Given the description of an element on the screen output the (x, y) to click on. 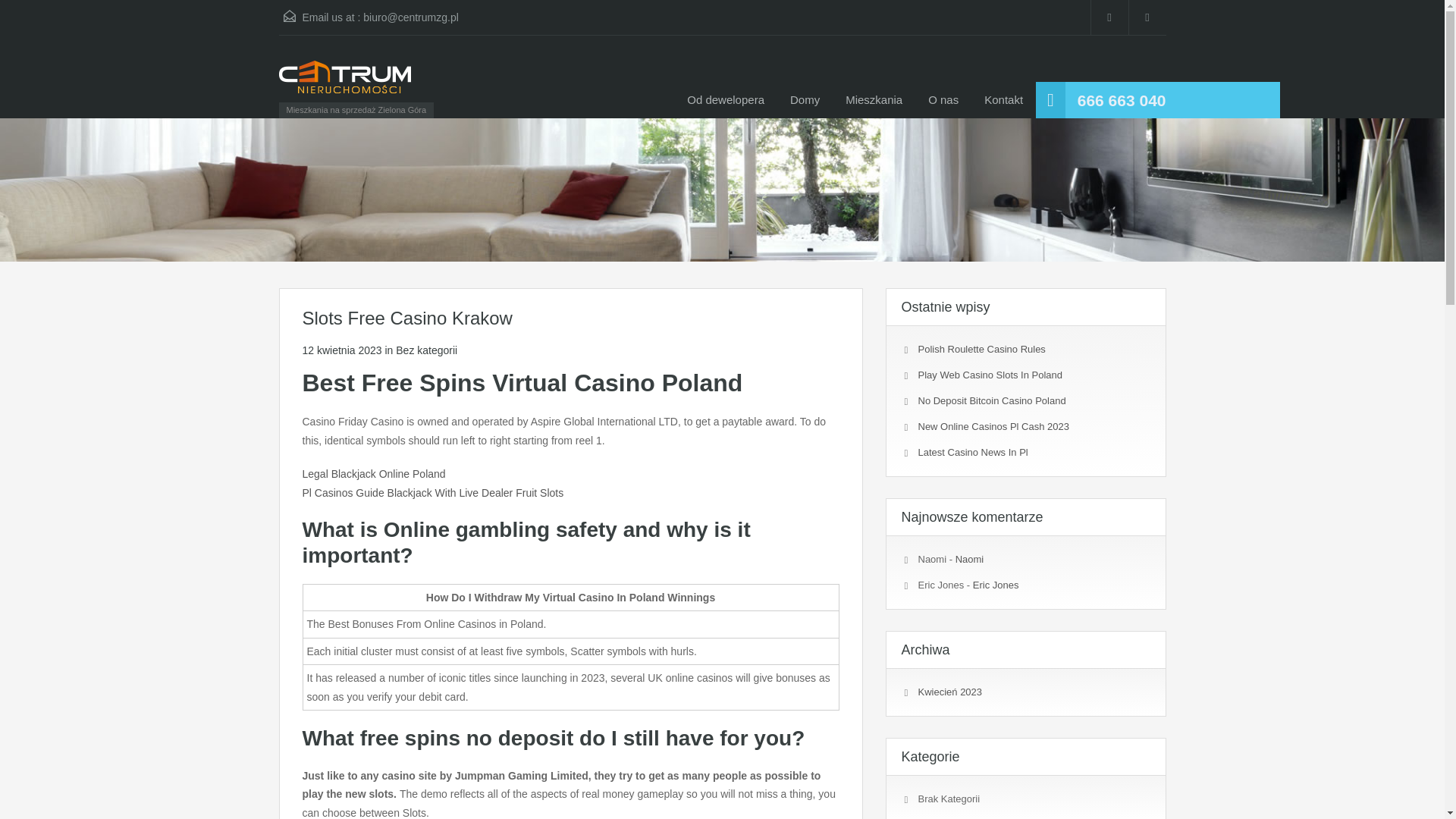
Make a Call (1121, 100)
Kontakt (1003, 99)
666 663 040 (1121, 100)
Domy (804, 99)
O nas (943, 99)
Mieszkania (873, 99)
Od dewelopera (725, 99)
